Given the description of an element on the screen output the (x, y) to click on. 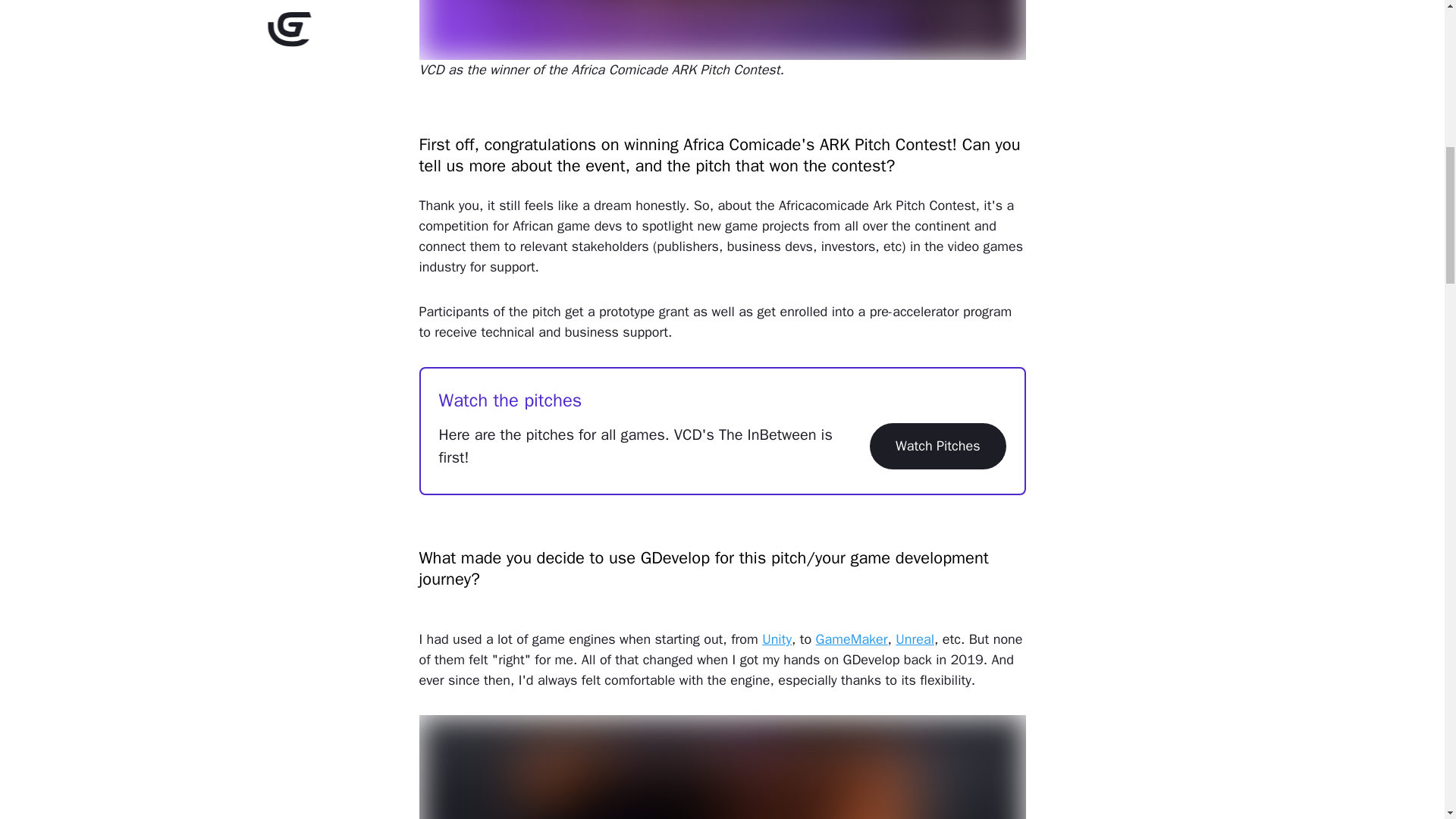
Unity (776, 638)
Unreal (914, 638)
Watch Pitches (937, 446)
GameMaker (851, 638)
Watch Pitches (937, 446)
Watch Pitches (937, 446)
GameMaker (851, 638)
Unity (776, 638)
Unreal (914, 638)
